Given the description of an element on the screen output the (x, y) to click on. 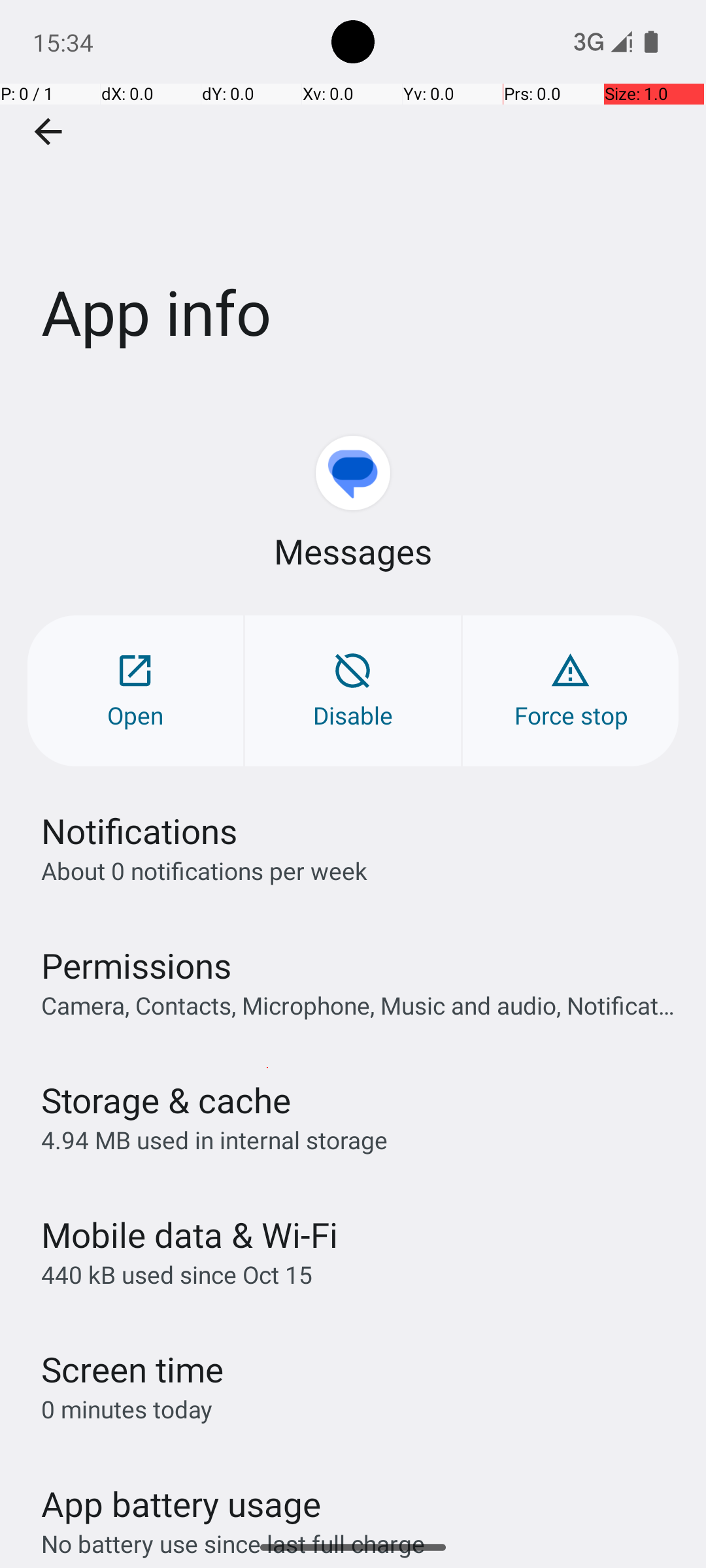
App info Element type: android.widget.FrameLayout (353, 195)
Navigate up Element type: android.widget.ImageButton (48, 131)
Open Element type: android.widget.Button (135, 690)
Disable Element type: android.widget.Button (352, 690)
Force stop Element type: android.widget.Button (570, 690)
Notifications Element type: android.widget.TextView (139, 830)
About 0 notifications per week Element type: android.widget.TextView (204, 870)
Permissions Element type: android.widget.TextView (136, 965)
Camera, Contacts, Microphone, Music and audio, Notifications, Phone, Photos and videos, and SMS Element type: android.widget.TextView (359, 1004)
Storage & cache Element type: android.widget.TextView (166, 1099)
4.94 MB used in internal storage Element type: android.widget.TextView (214, 1139)
Mobile data & Wi‑Fi Element type: android.widget.TextView (189, 1234)
440 kB used since Oct 15 Element type: android.widget.TextView (176, 1273)
Screen time Element type: android.widget.TextView (132, 1368)
0 minutes today Element type: android.widget.TextView (127, 1408)
App battery usage Element type: android.widget.TextView (181, 1503)
